Given the description of an element on the screen output the (x, y) to click on. 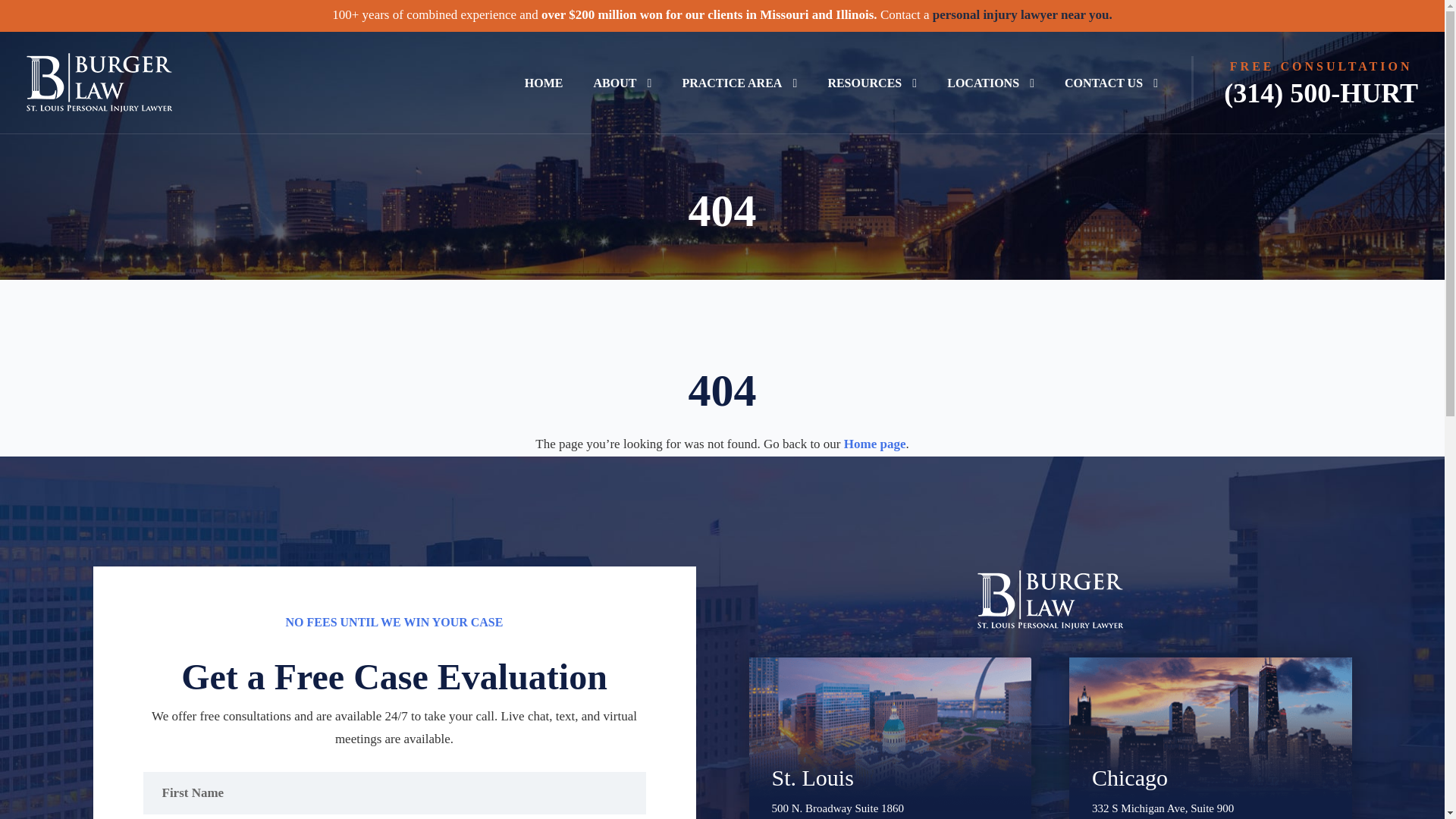
ABOUT (621, 82)
HOME (543, 82)
personal injury lawyer near you. (1022, 14)
PRACTICE AREA (738, 82)
